Given the description of an element on the screen output the (x, y) to click on. 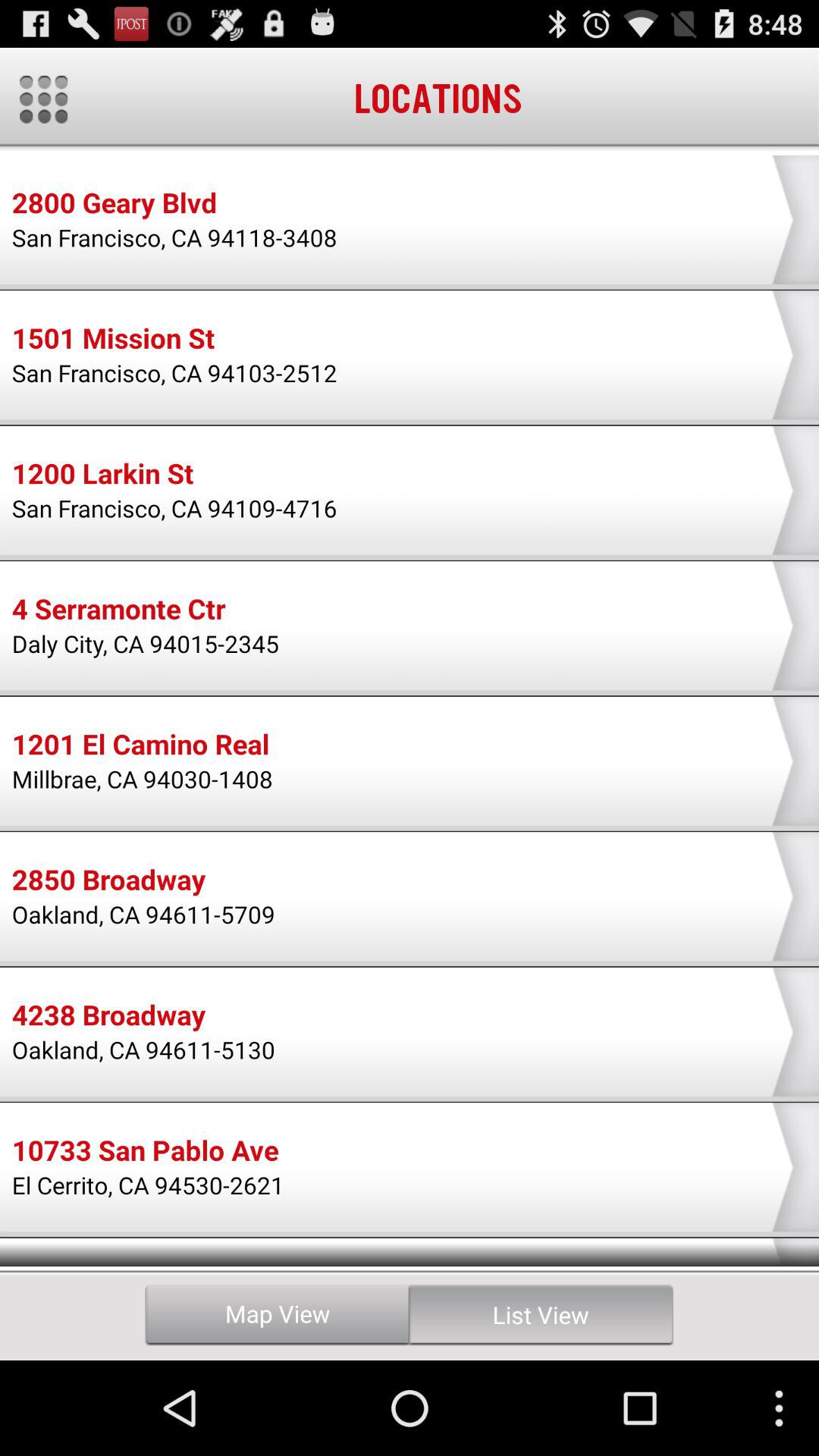
press icon above the san francisco ca icon (114, 205)
